Given the description of an element on the screen output the (x, y) to click on. 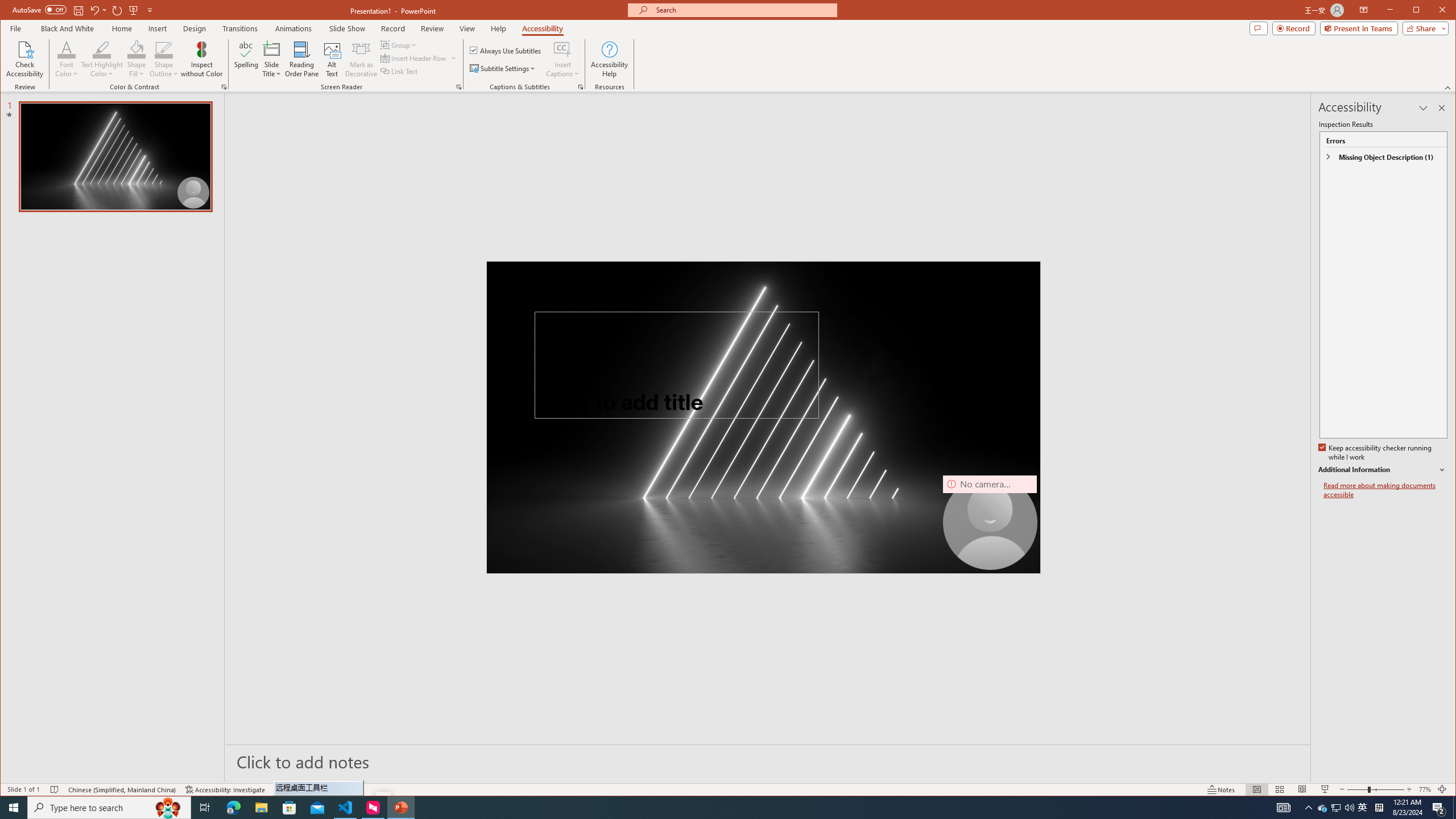
Insert Captions (562, 48)
Slide Title (271, 48)
Shape Outline Blue, Accent 1 (163, 48)
Neon laser lights aligned to form a triangle (762, 417)
Keep accessibility checker running while I work (1375, 452)
